Given the description of an element on the screen output the (x, y) to click on. 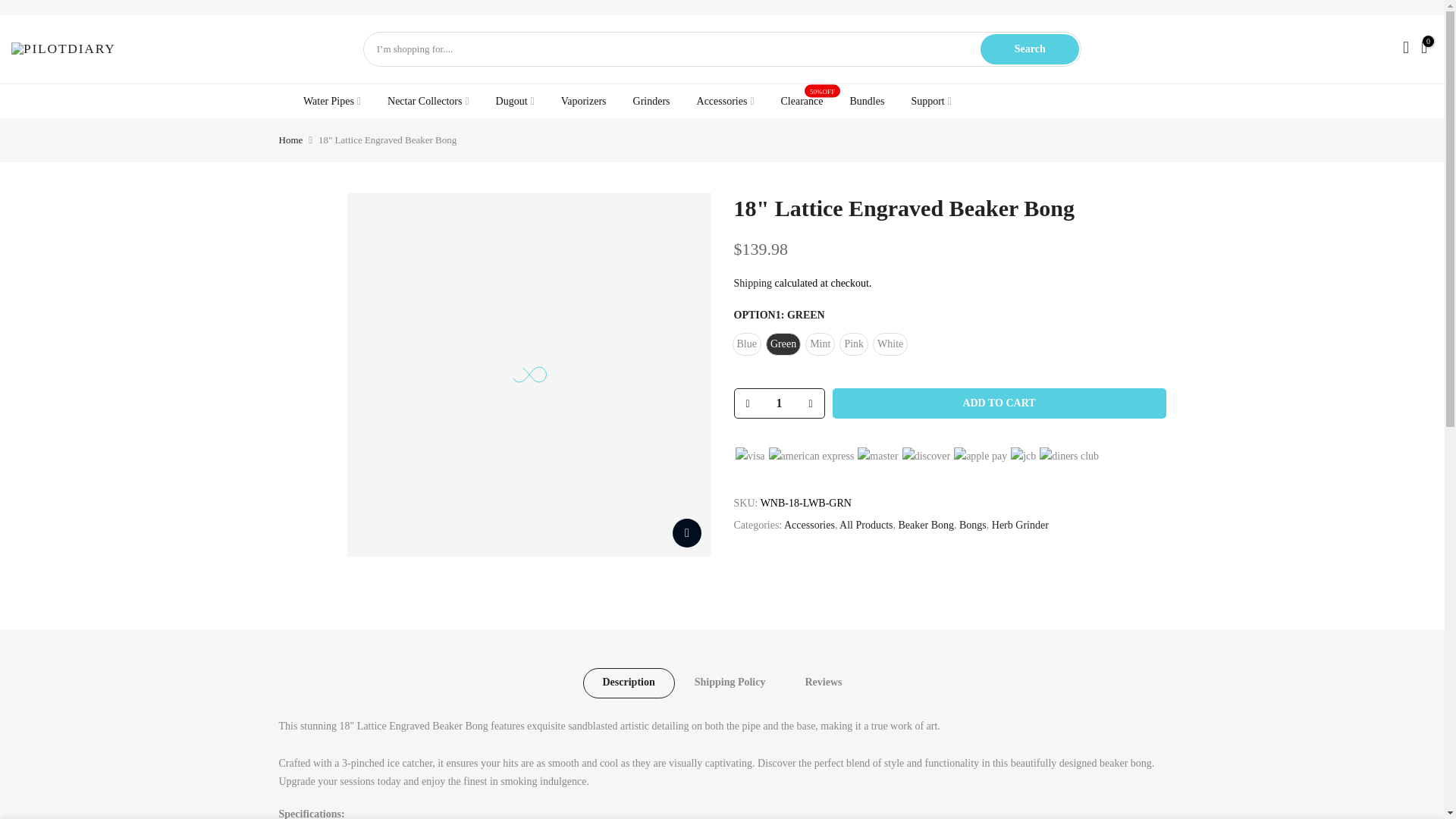
Shipping (753, 283)
Nectar Collectors (427, 100)
Support (930, 100)
ADD TO CART (999, 403)
Herb Grinder (1019, 524)
Description (628, 682)
Beaker Bong (925, 524)
Vaporizers (583, 100)
Reviews (822, 682)
1 (778, 403)
All Products (866, 524)
Search (1028, 49)
Accessories (809, 524)
Accessories (724, 100)
Water Pipes (331, 100)
